Given the description of an element on the screen output the (x, y) to click on. 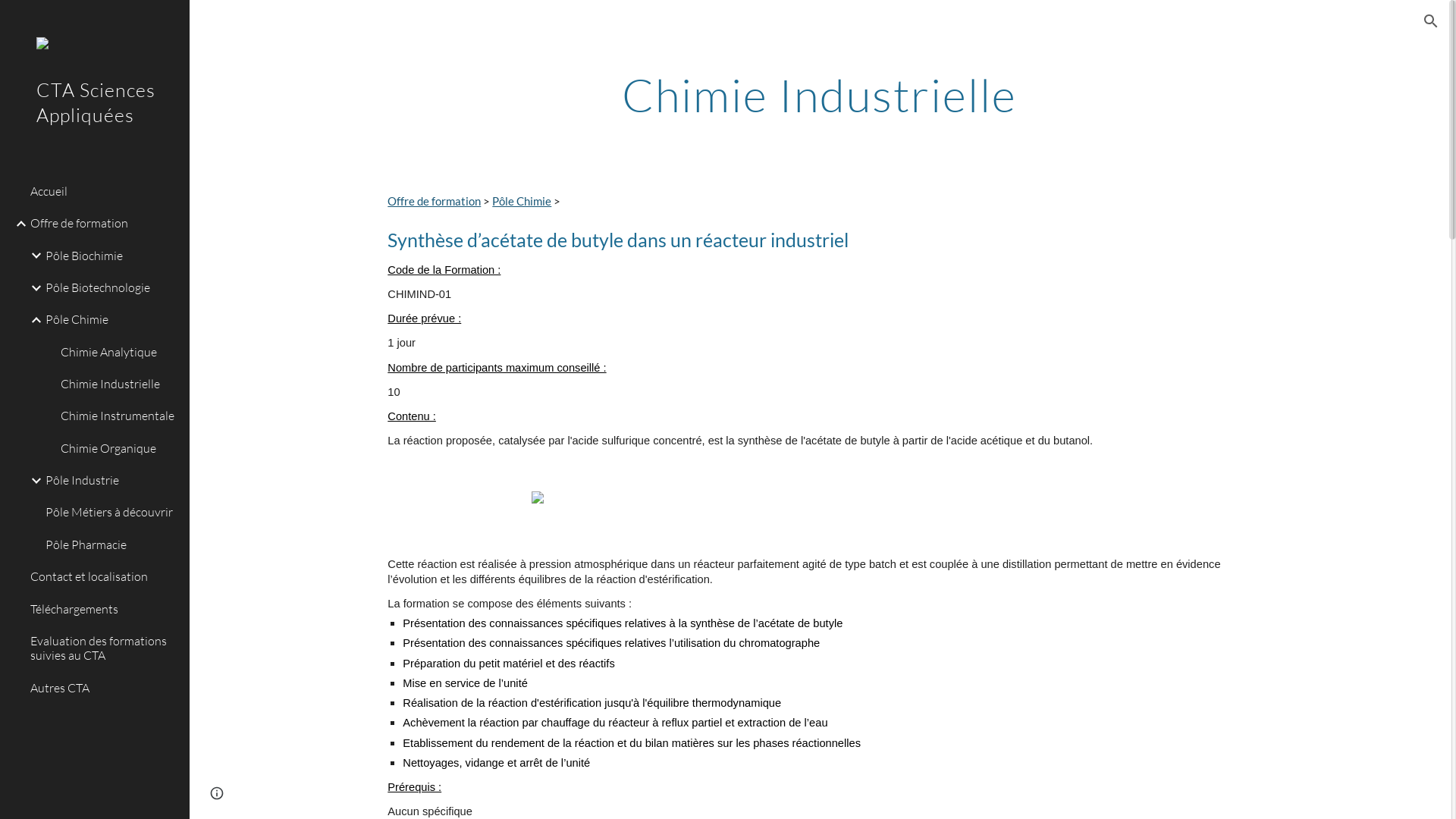
Accueil Element type: text (103, 191)
Expand/Collapse Element type: hover (31, 319)
Chimie Instrumentale Element type: text (118, 416)
Chimie Organique Element type: text (118, 448)
Evaluation des formations suivies au CTA Element type: text (103, 647)
Expand/Collapse Element type: hover (31, 480)
Contact et localisation Element type: text (103, 577)
Offre de formation Element type: text (433, 200)
Expand/Collapse Element type: hover (16, 223)
Expand/Collapse Element type: hover (31, 255)
Chimie Analytique Element type: text (118, 351)
Offre de formation Element type: text (103, 223)
Expand/Collapse Element type: hover (31, 288)
Autres CTA Element type: text (103, 687)
Chimie Industrielle Element type: text (118, 384)
